Given the description of an element on the screen output the (x, y) to click on. 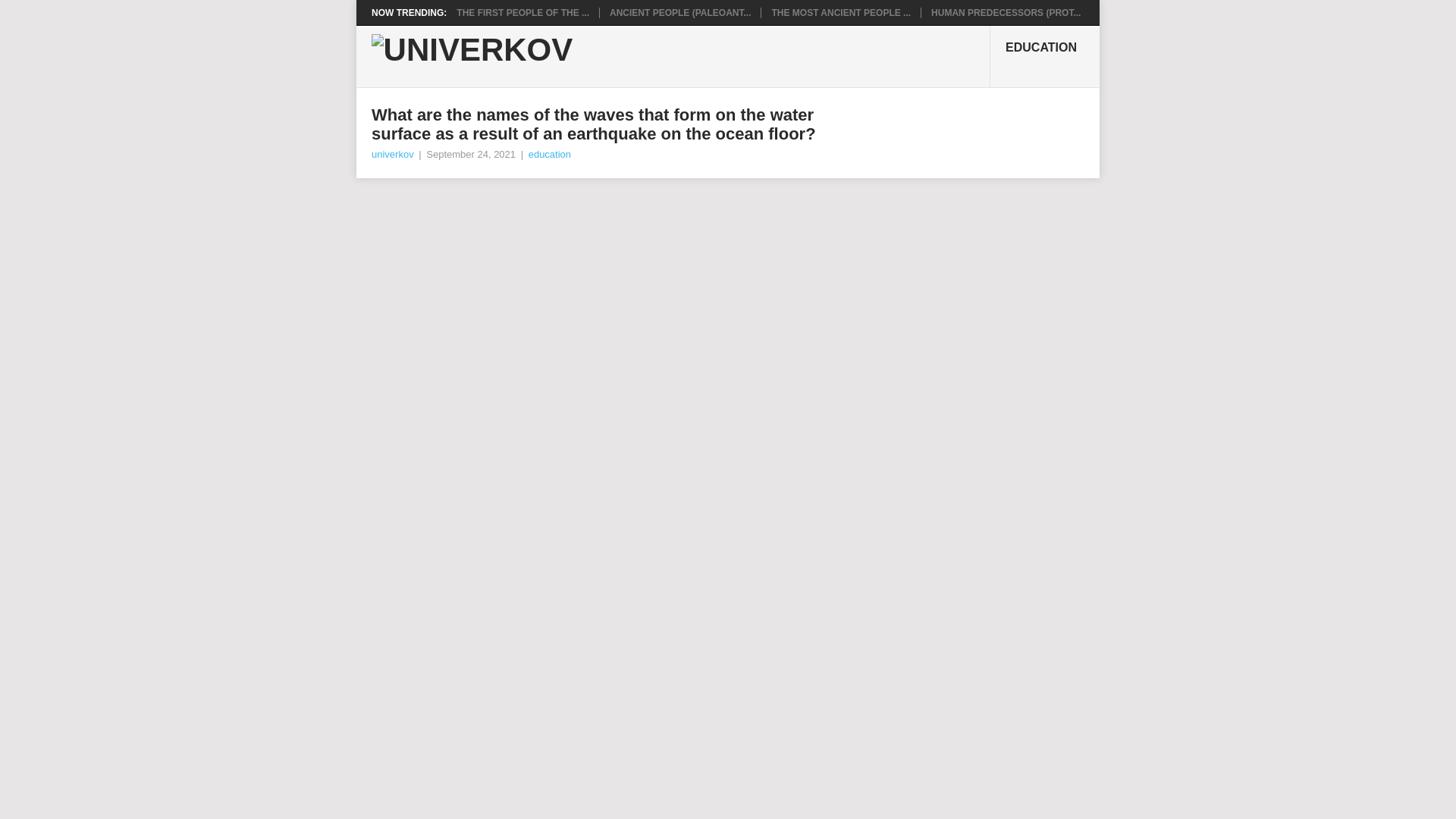
education (549, 153)
Posts by univerkov (392, 153)
univerkov (392, 153)
THE FIRST PEOPLE OF THE ... (523, 12)
THE MOST ANCIENT PEOPLE ... (841, 12)
EDUCATION (1044, 56)
